Given the description of an element on the screen output the (x, y) to click on. 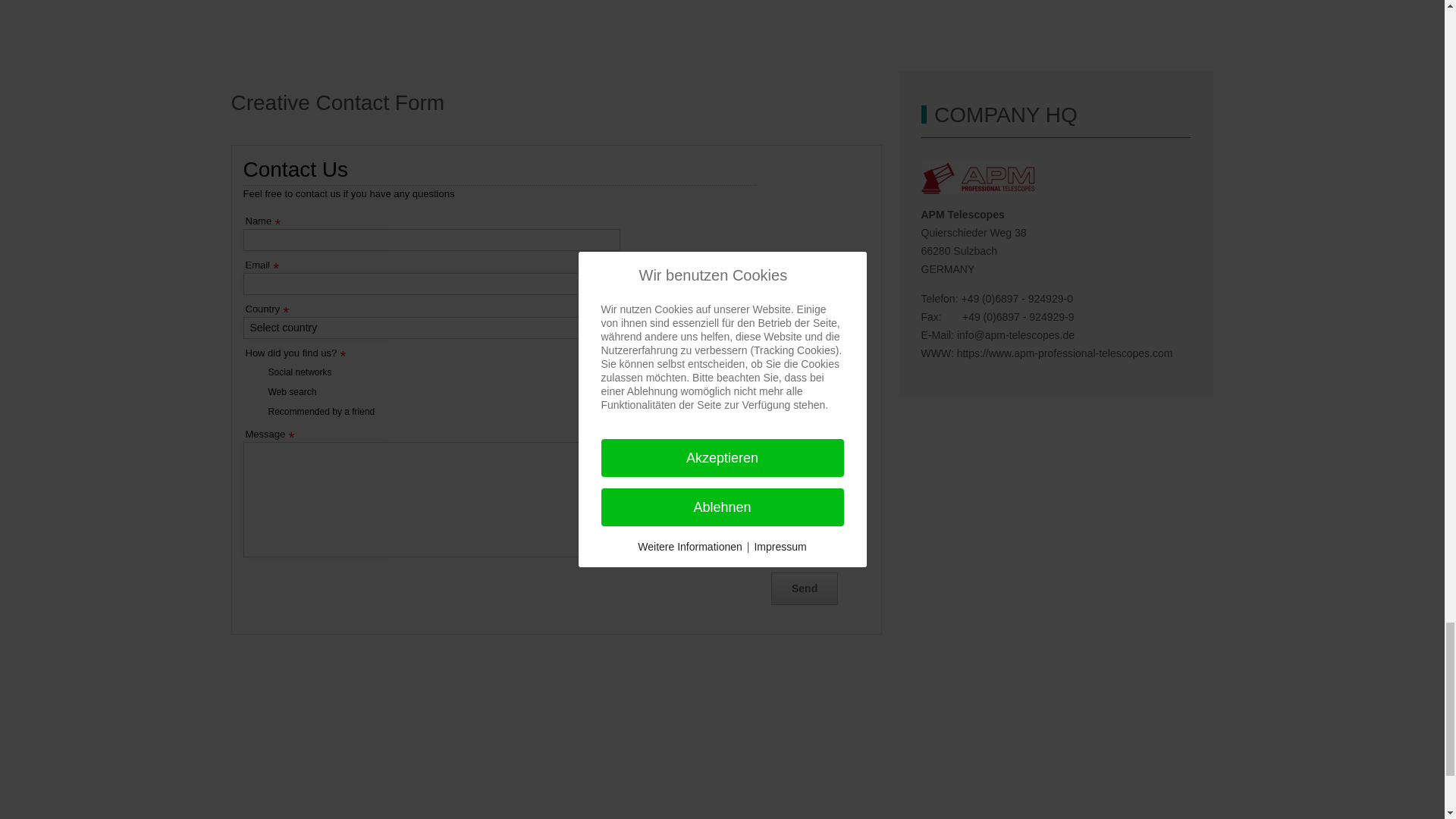
Send (804, 588)
